Given the description of an element on the screen output the (x, y) to click on. 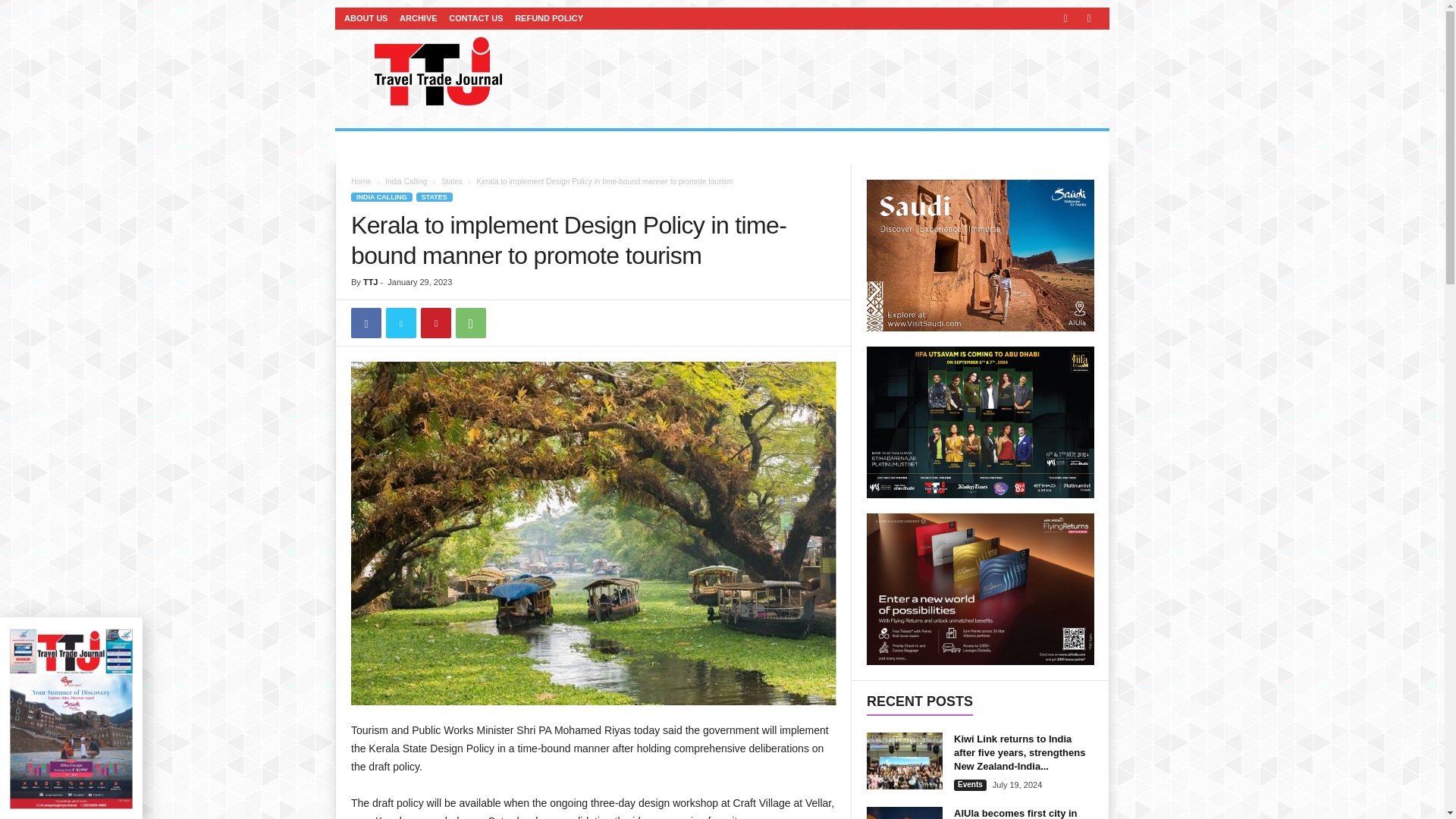
CONTACT US (475, 17)
ABOUT US (365, 17)
ARCHIVE (418, 17)
Flying High (392, 147)
REFUND POLICY (549, 17)
Travel Trade Journal (437, 70)
